Given the description of an element on the screen output the (x, y) to click on. 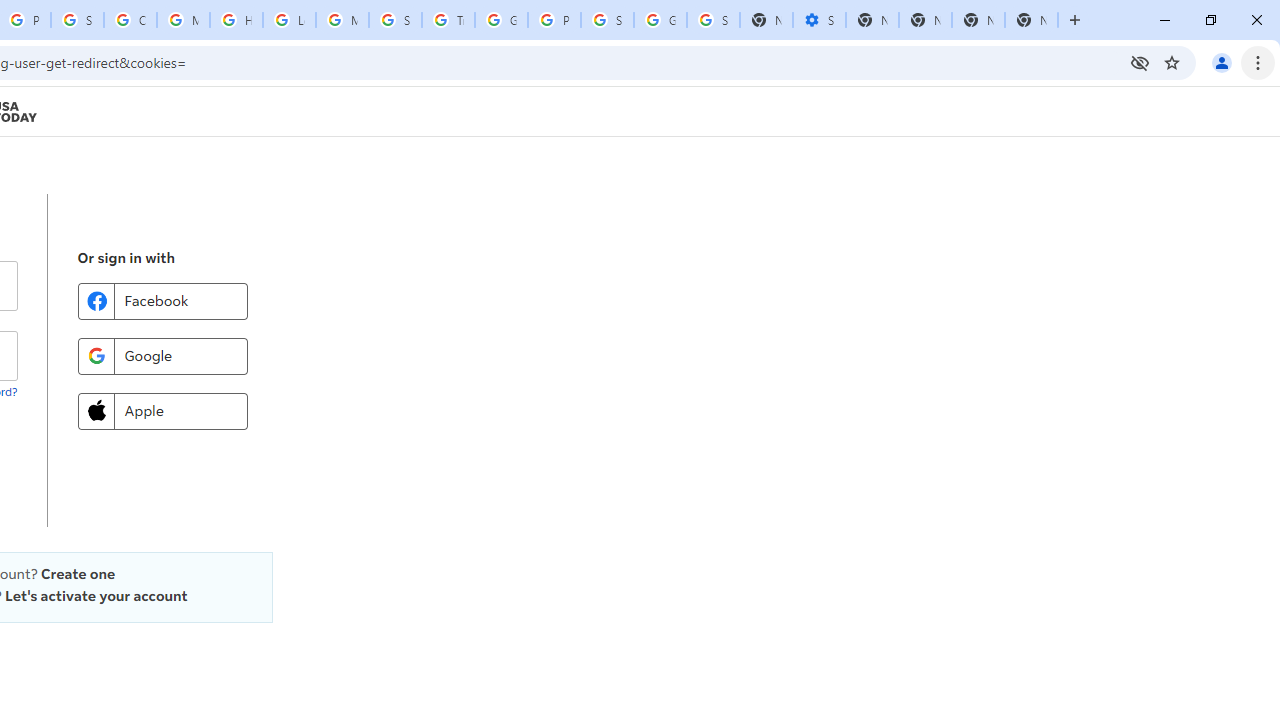
Minimize (1165, 20)
Chrome (1260, 62)
Sign in - Google Accounts (77, 20)
Bookmark this tab (1171, 62)
Search our Doodle Library Collection - Google Doodles (395, 20)
Google (162, 355)
You (1221, 62)
Facebook (162, 300)
